Given the description of an element on the screen output the (x, y) to click on. 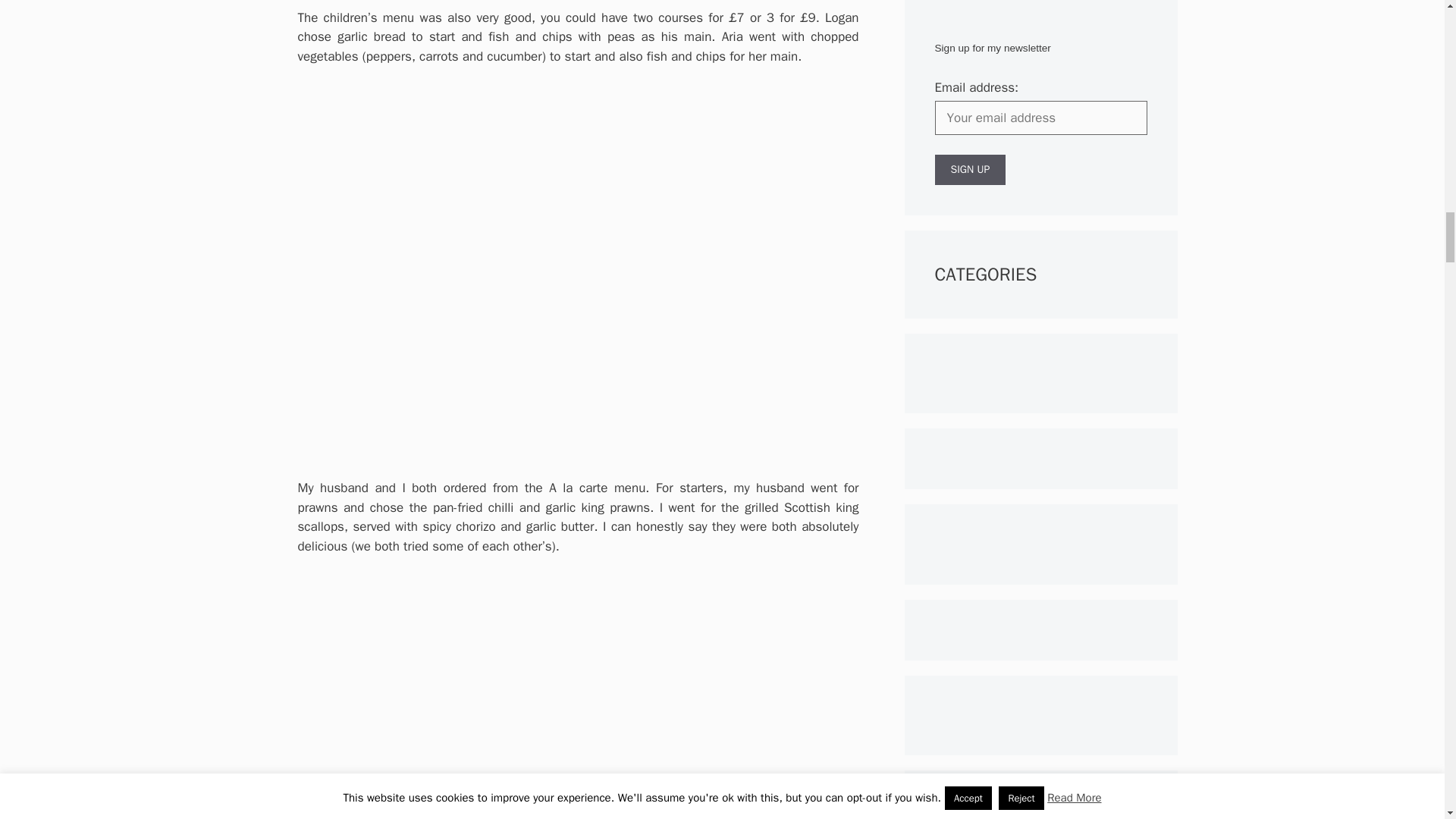
Sign up (970, 169)
